Given the description of an element on the screen output the (x, y) to click on. 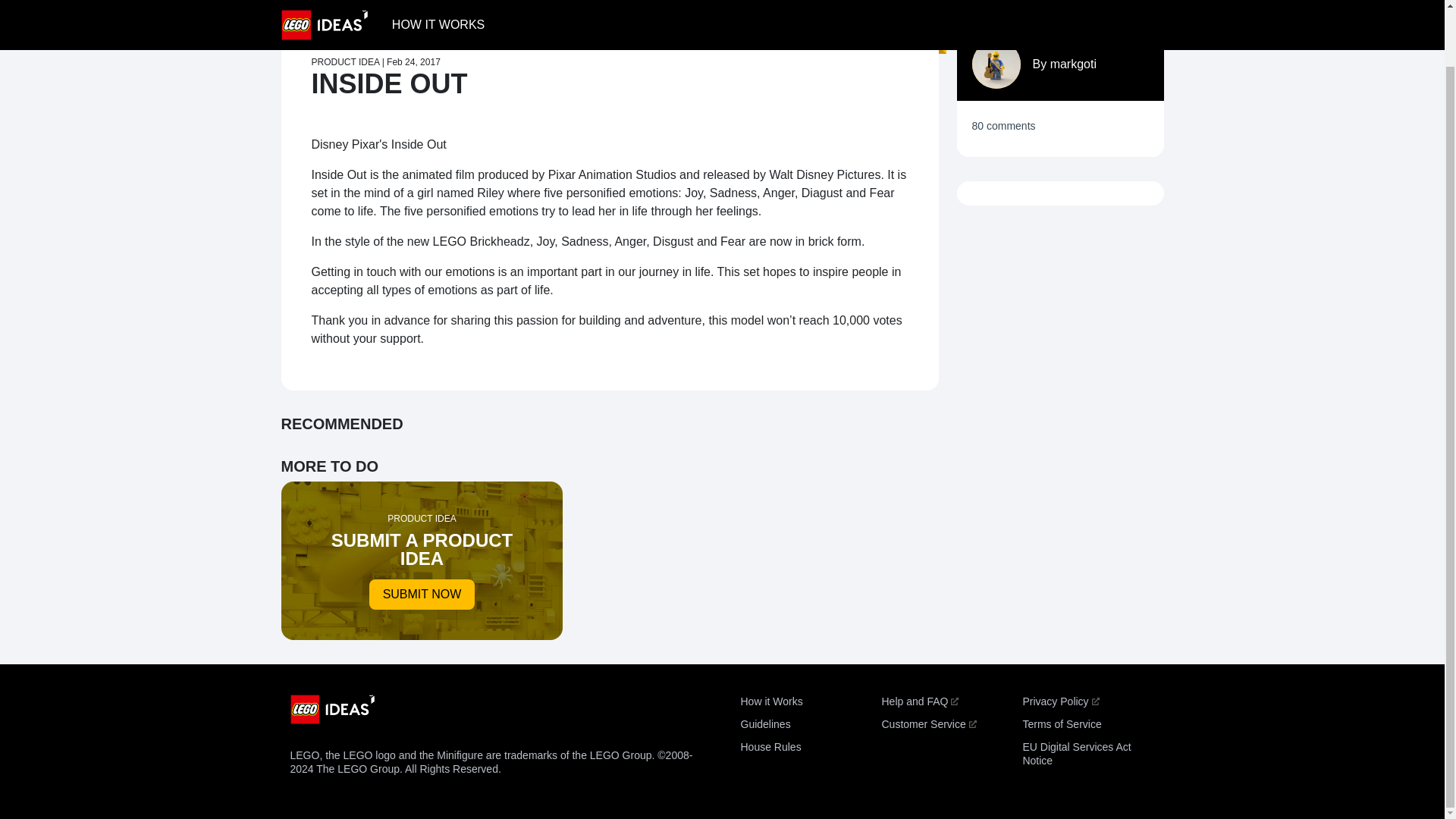
EU Digital Services Act Notice (1076, 753)
Help and FAQ (919, 701)
House Rules (769, 746)
Terms of Service (1061, 724)
Guidelines (764, 724)
markgoti (421, 560)
Customer Service (1072, 63)
2017-02-24T11:21:06Z (927, 724)
How it Works (414, 61)
Privacy Policy (770, 701)
